Given the description of an element on the screen output the (x, y) to click on. 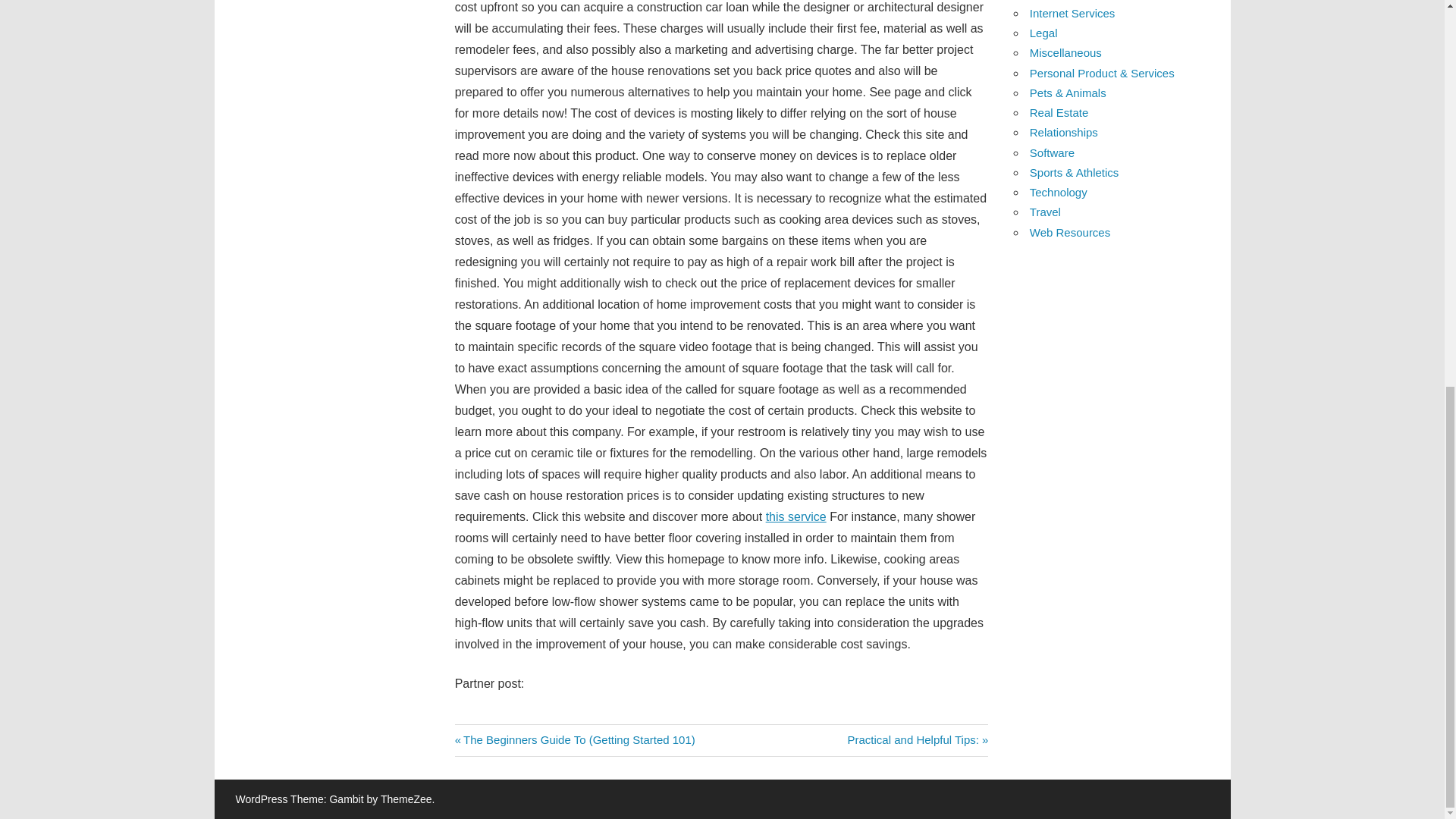
Legal (1043, 32)
this service (796, 516)
Internet Services (917, 739)
